Given the description of an element on the screen output the (x, y) to click on. 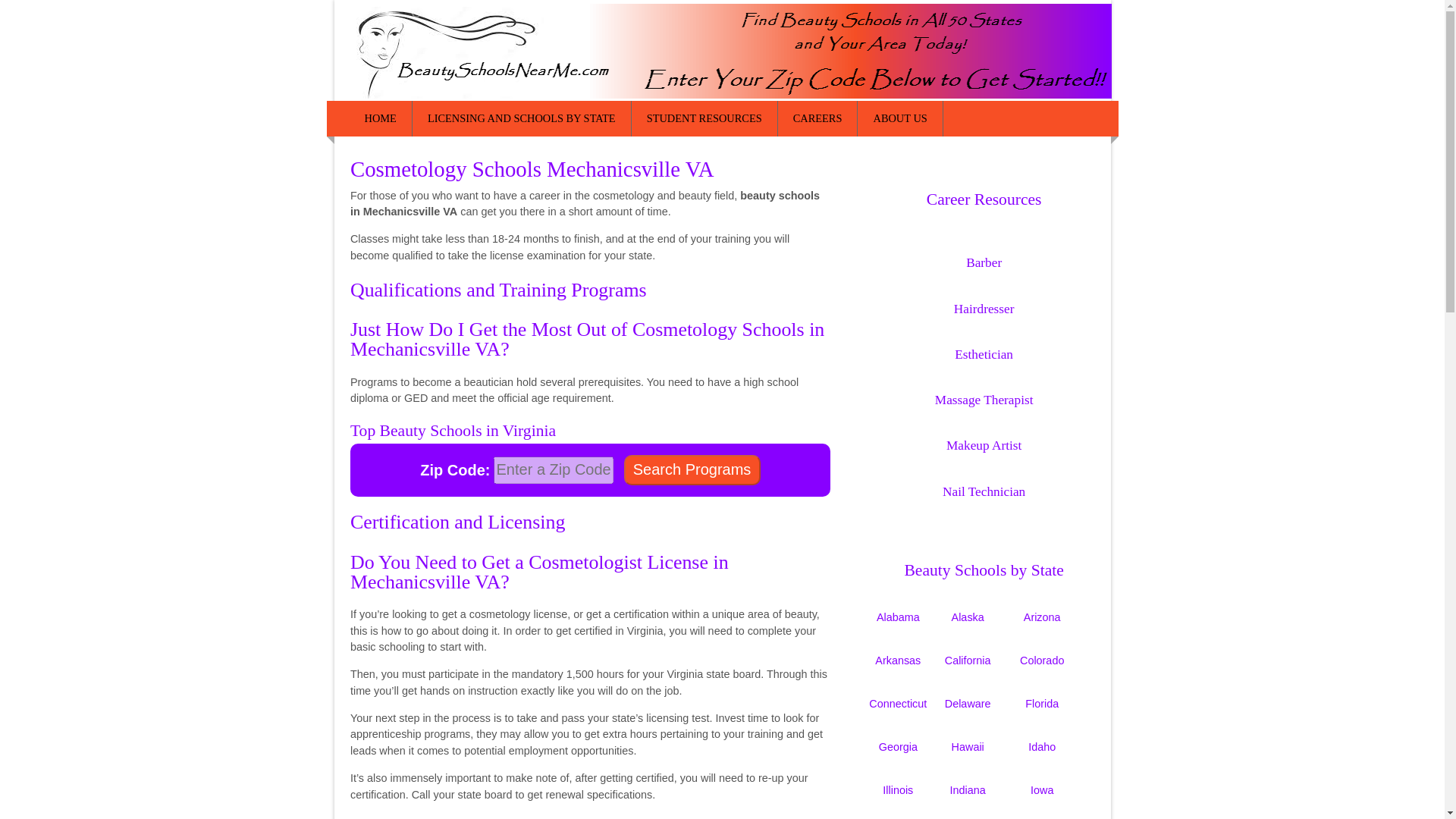
LICENSING AND SCHOOLS BY STATE (521, 118)
HOME (380, 118)
Search Programs (692, 470)
